Given the description of an element on the screen output the (x, y) to click on. 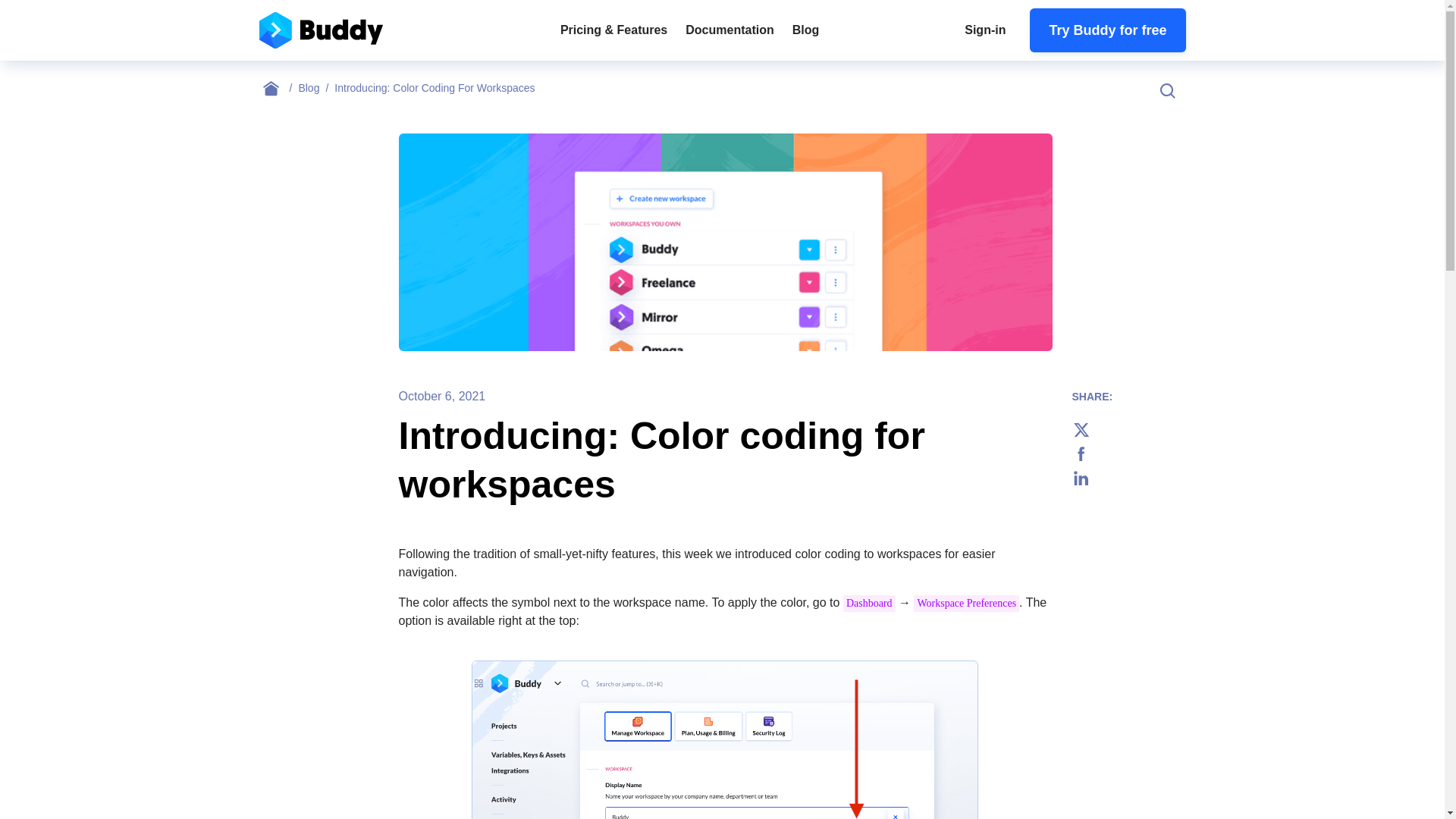
Documentation (729, 30)
Sign-in (984, 30)
Blog (316, 87)
Blog (805, 30)
Try Buddy for free (1107, 30)
